Given the description of an element on the screen output the (x, y) to click on. 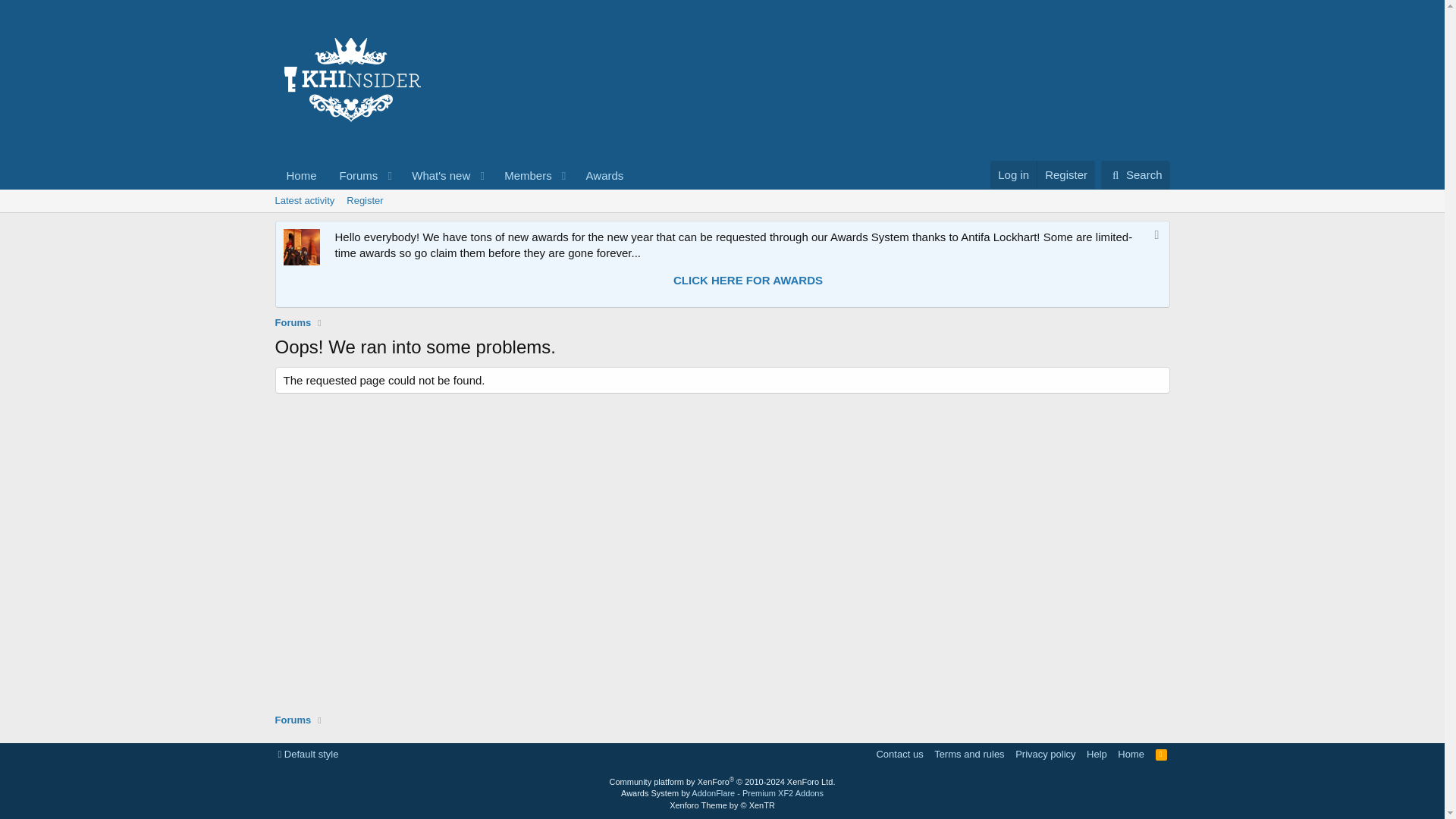
Log in (1013, 174)
Search (1135, 174)
Privacy policy (1044, 753)
Contact us (899, 753)
Style chooser (307, 753)
Forums (293, 322)
Members (523, 175)
Latest activity (303, 200)
Home (454, 175)
Forums (301, 175)
Dismiss notice (354, 175)
Default style (1154, 236)
Search (307, 753)
RSS (1135, 174)
